Given the description of an element on the screen output the (x, y) to click on. 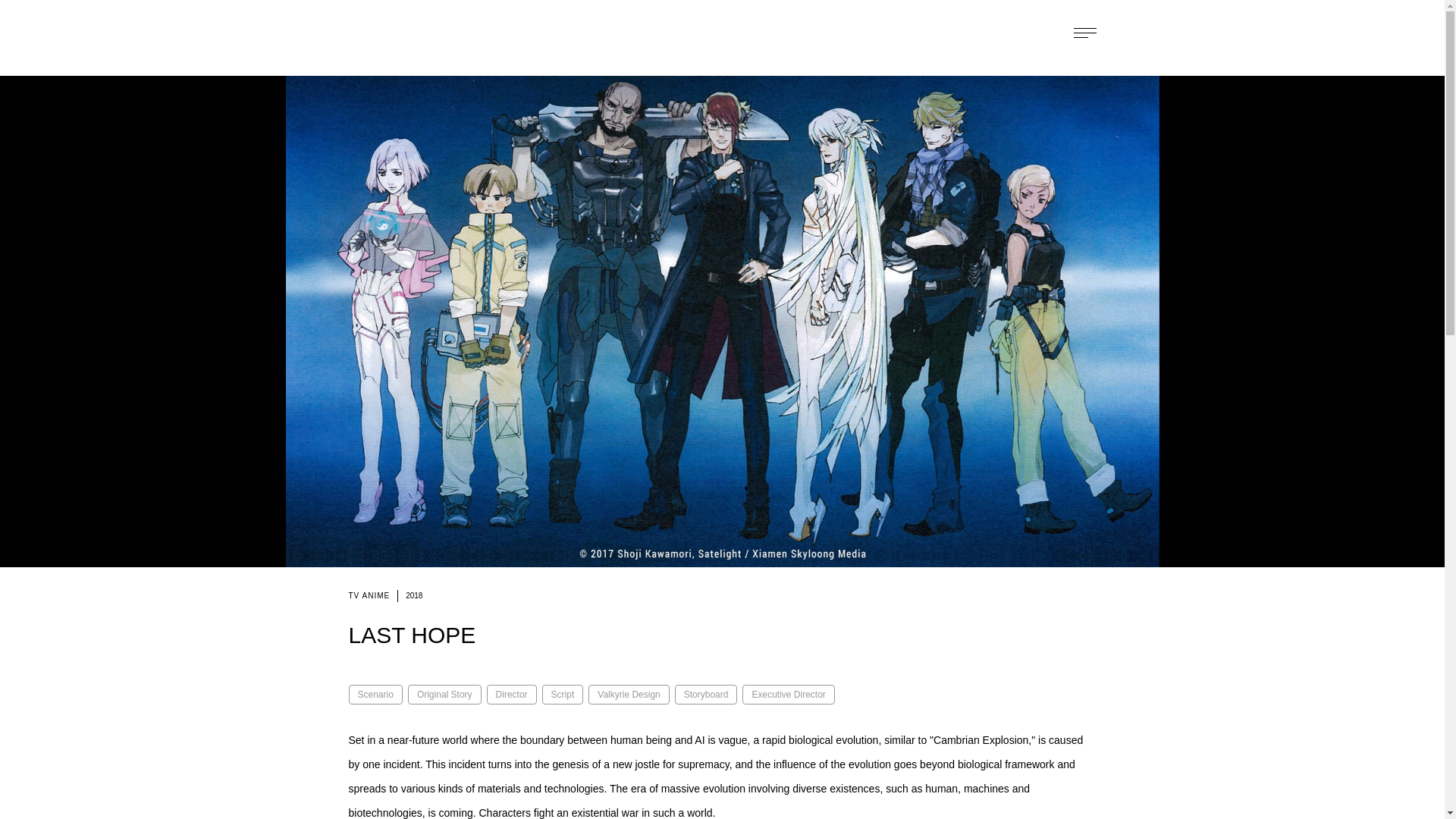
Director (511, 694)
Valkyrie Design (628, 694)
Original Story (444, 694)
Storyboard (706, 694)
Scenario (376, 694)
Script (562, 694)
Executive Director (788, 694)
